Given the description of an element on the screen output the (x, y) to click on. 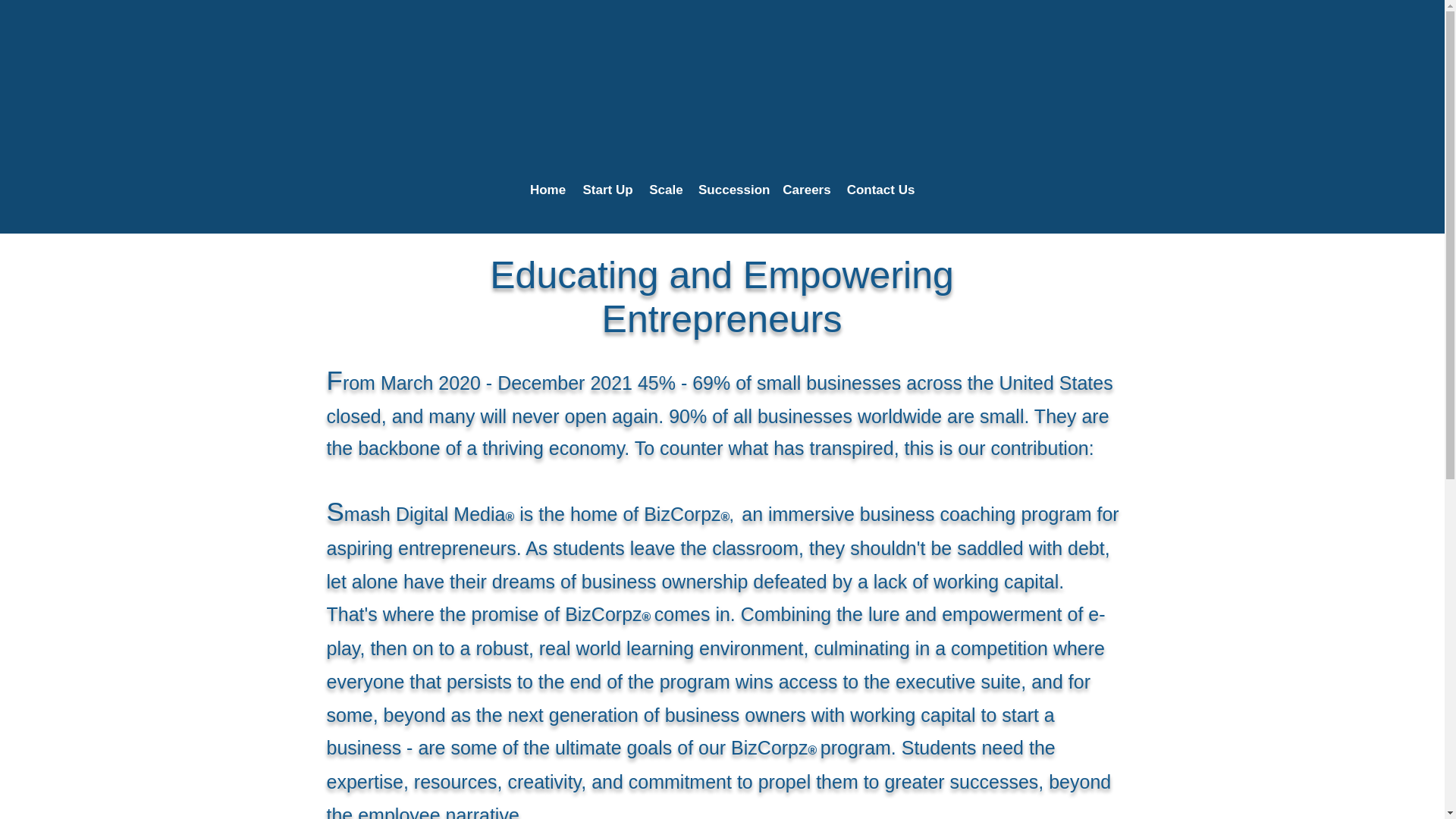
Scale (666, 190)
Home (547, 190)
Succession (732, 190)
Careers (806, 190)
Start Up (607, 190)
Contact Us (880, 190)
